Given the description of an element on the screen output the (x, y) to click on. 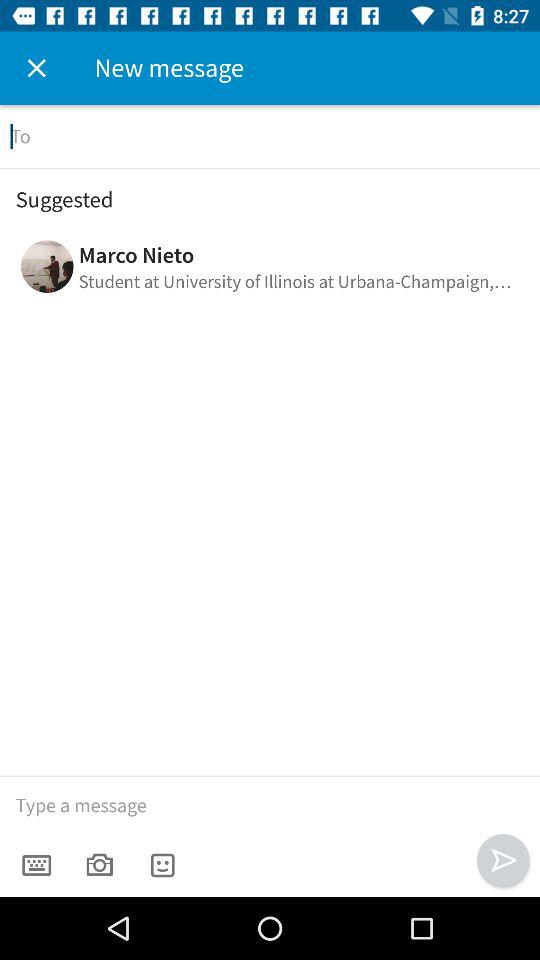
type a message (270, 805)
